Given the description of an element on the screen output the (x, y) to click on. 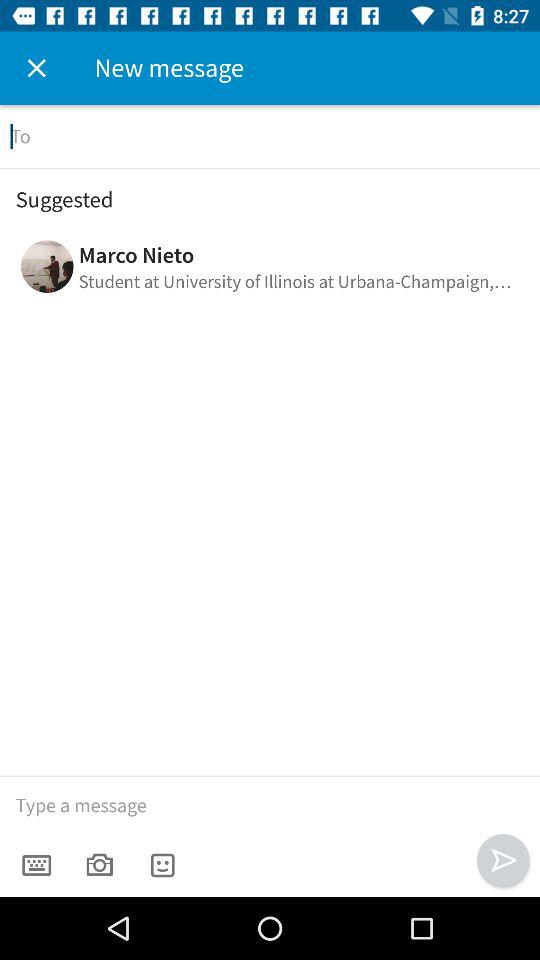
type a message (270, 805)
